Given the description of an element on the screen output the (x, y) to click on. 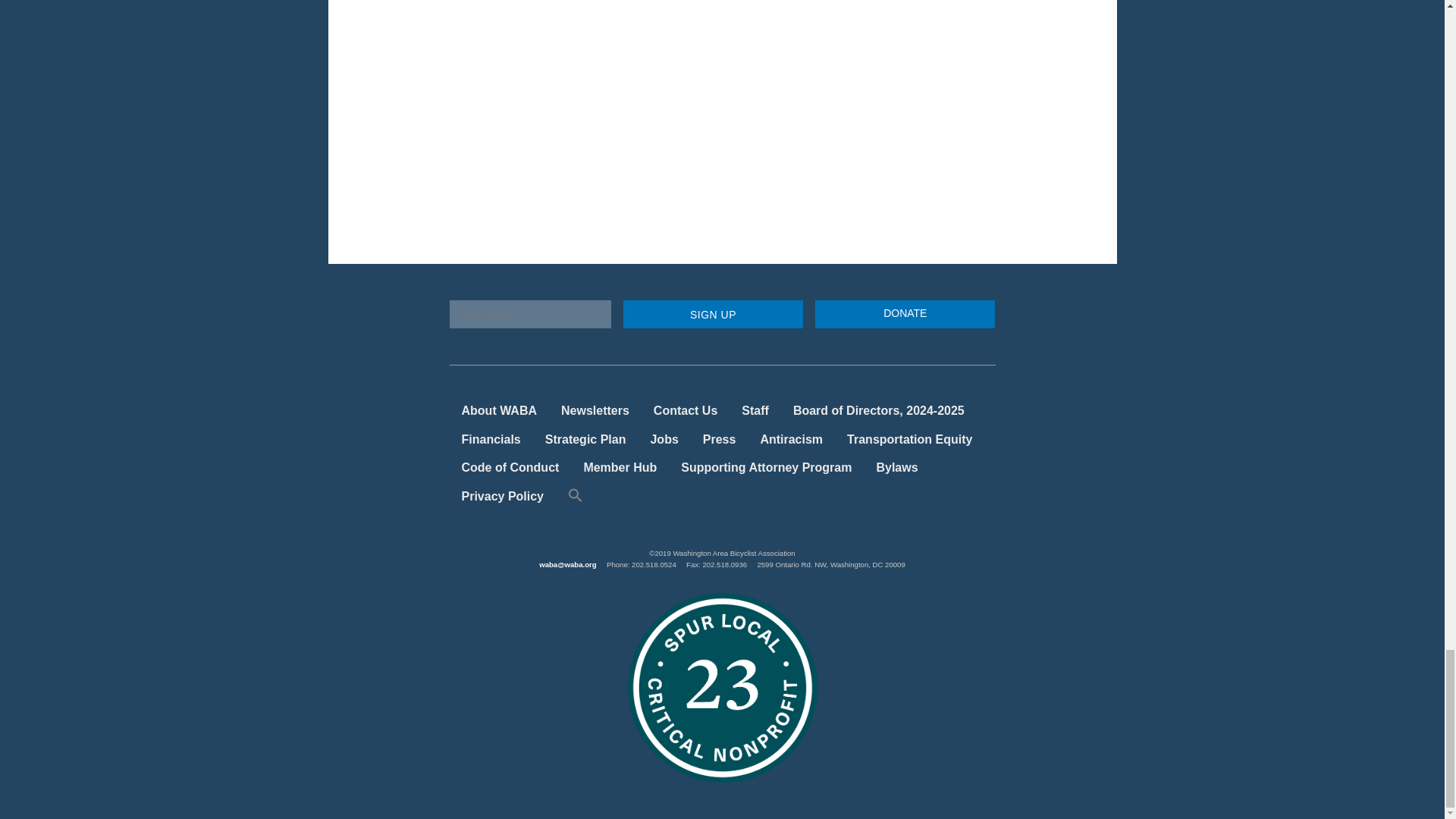
Email (529, 314)
Sign Up (713, 314)
